Given the description of an element on the screen output the (x, y) to click on. 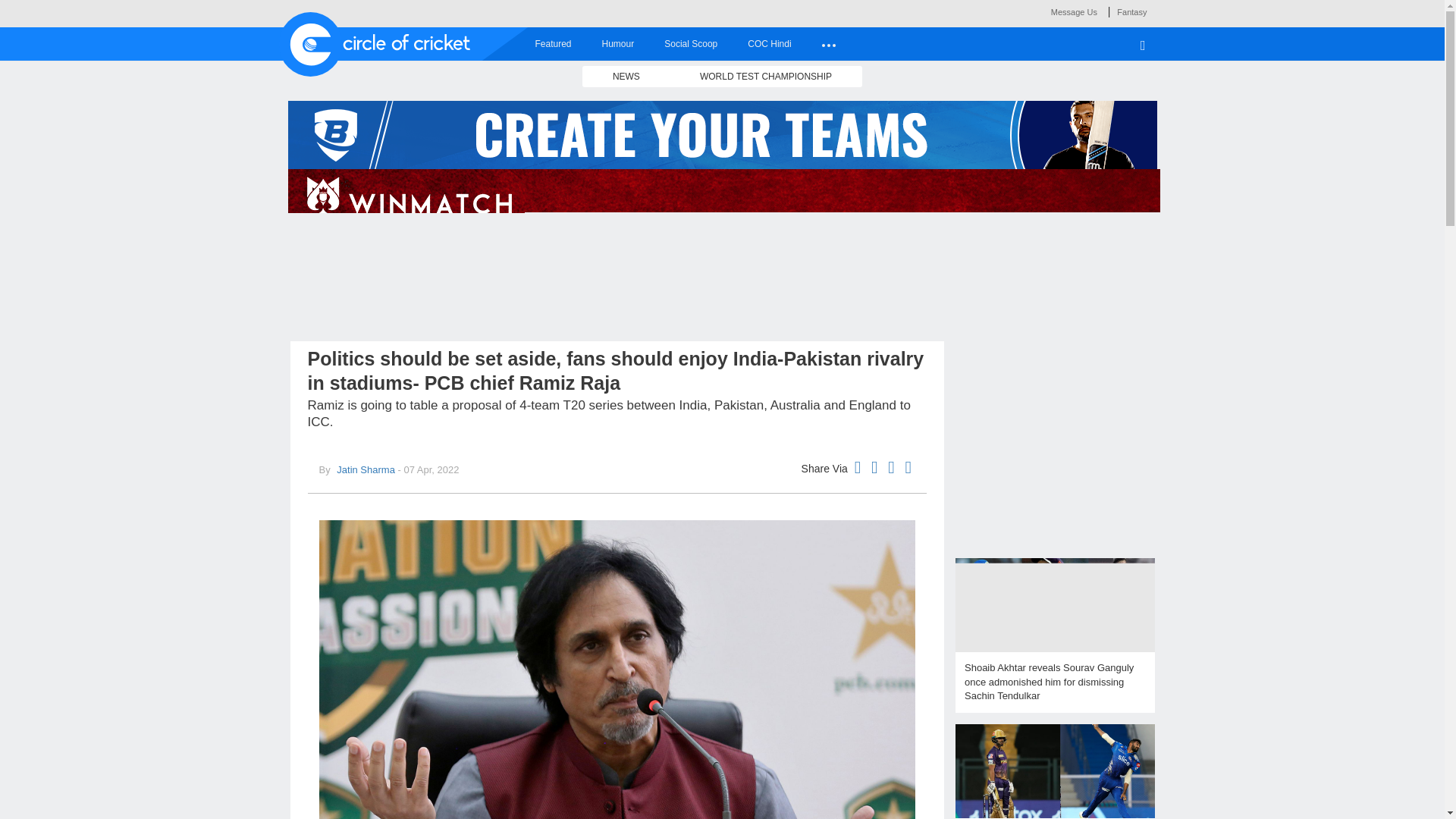
Social Scoop (690, 43)
Jatin Sharma (364, 469)
Advertisement (1054, 447)
Featured (552, 43)
WORLD TEST CHAMPIONSHIP (765, 76)
COC Hindi (769, 43)
Humour (617, 43)
Fantasy (1131, 11)
NEWS (625, 76)
Message Us (1074, 11)
